Given the description of an element on the screen output the (x, y) to click on. 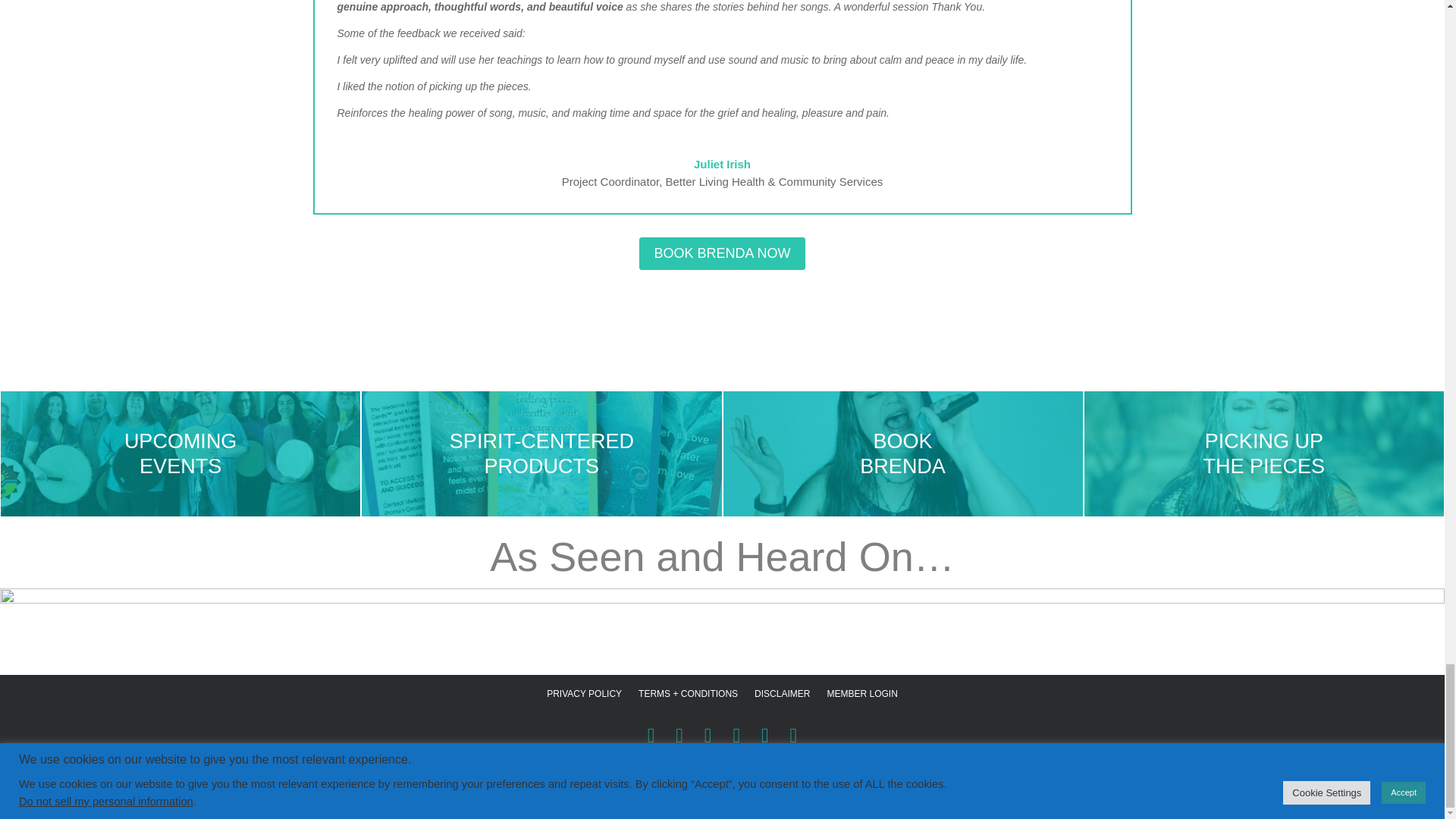
PRIVACY POLICY (584, 696)
BOOK BRENDA NOW (722, 253)
DISCLAIMER (781, 696)
BRENDA MACINTYRE (525, 801)
MEMBER LOGIN (861, 696)
